Given the description of an element on the screen output the (x, y) to click on. 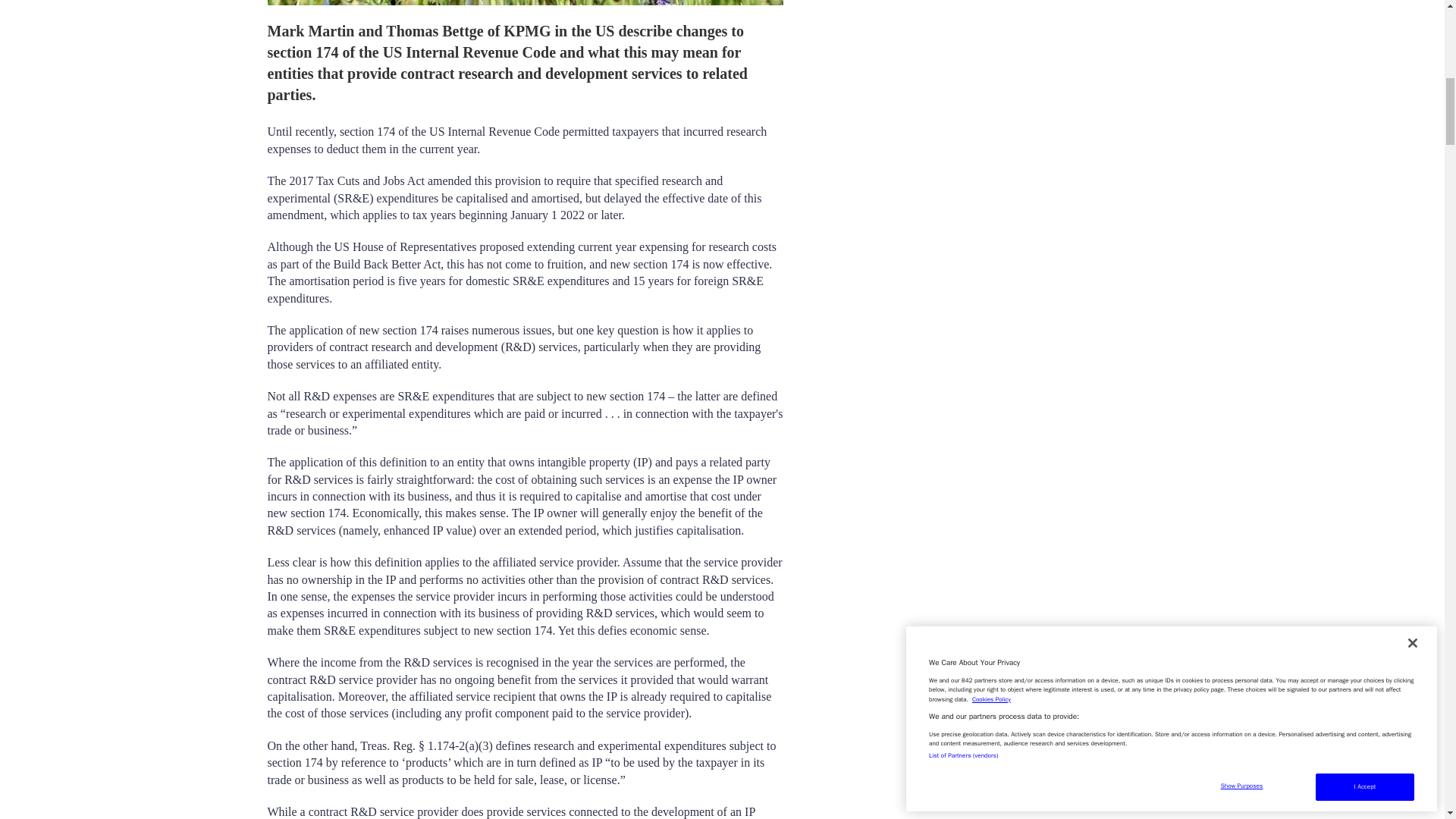
3rd party ad content (979, 108)
